Given the description of an element on the screen output the (x, y) to click on. 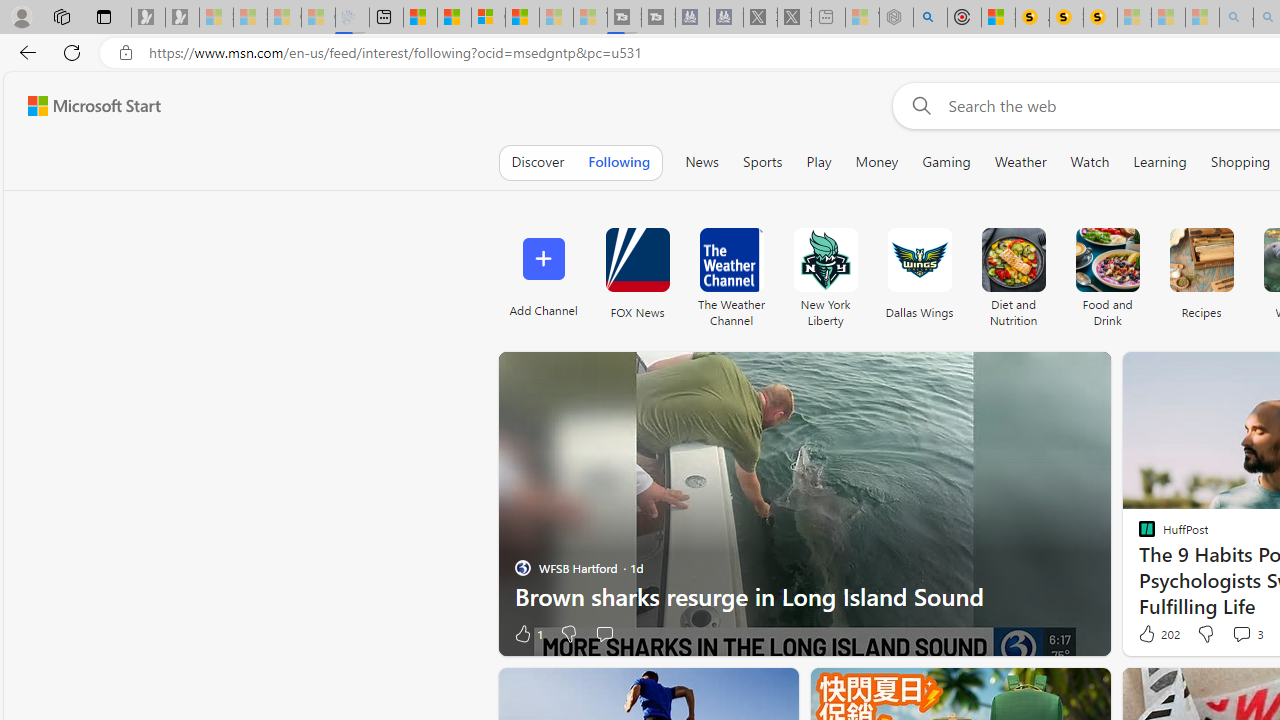
Play (818, 161)
New York Liberty (824, 272)
Newsletter Sign Up - Sleeping (182, 17)
Gaming (946, 161)
Learning (1160, 162)
Sports (762, 162)
The Weather Channel (731, 260)
